Given the description of an element on the screen output the (x, y) to click on. 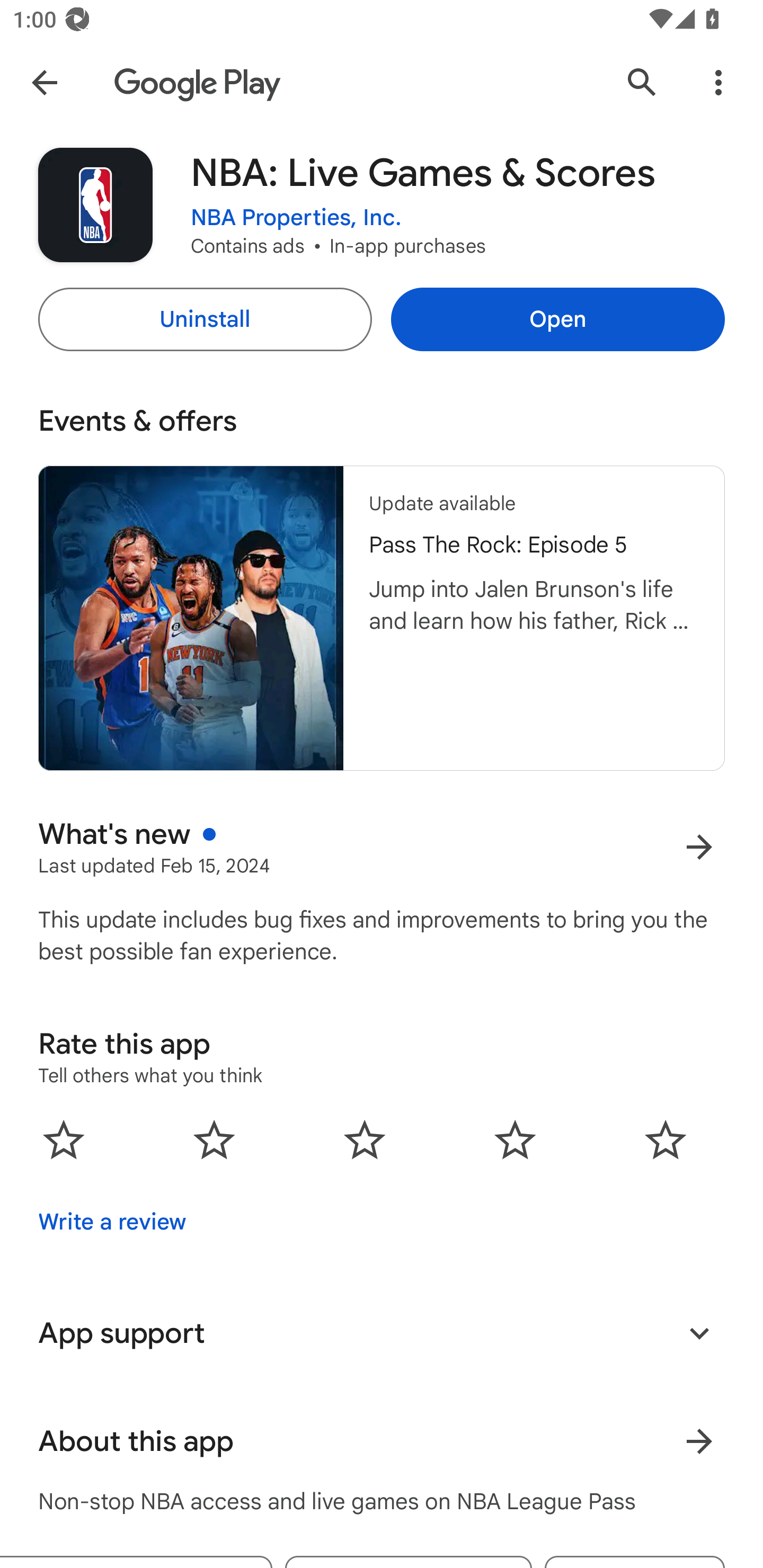
Navigate up (44, 81)
Search Google Play (642, 81)
More Options (718, 81)
NBA Properties, Inc. (295, 217)
Uninstall (205, 318)
Open (557, 318)
More results for What's new (699, 847)
0.0 (364, 1138)
Write a review (112, 1221)
App support Expand (381, 1333)
Expand (699, 1333)
About this app Learn more About this app (381, 1441)
Learn more About this app (699, 1441)
